Given the description of an element on the screen output the (x, y) to click on. 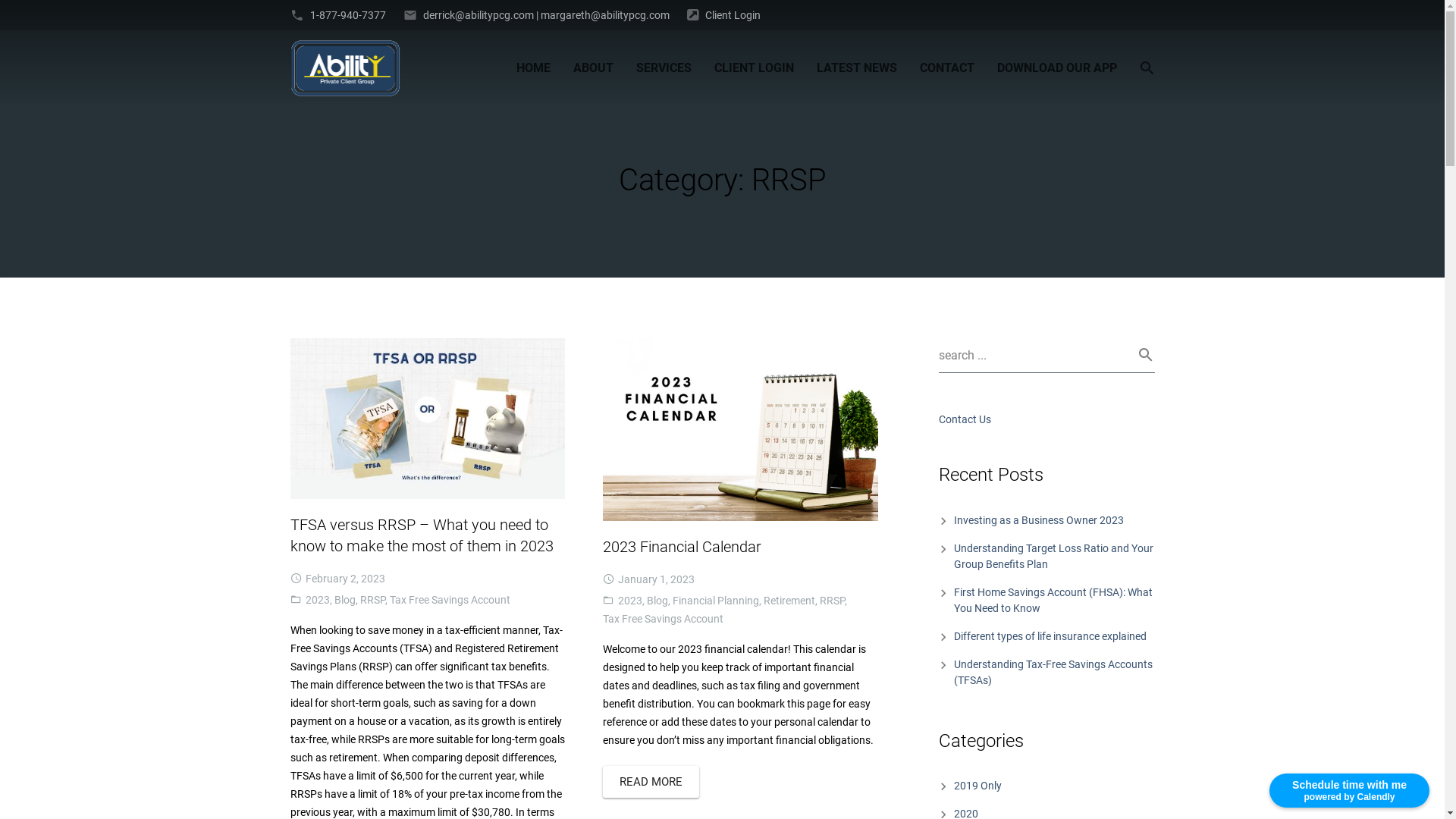
CONTACT Element type: text (946, 68)
Retirement Element type: text (789, 600)
Blog Element type: text (657, 600)
Tax Free Savings Account Element type: text (449, 599)
RRSP Element type: text (371, 599)
Investing as a Business Owner 2023 Element type: text (1038, 520)
CLIENT LOGIN Element type: text (753, 68)
READ MORE Element type: text (650, 781)
Different types of life insurance explained Element type: text (1049, 636)
2023 Element type: text (630, 600)
RRSP Element type: text (831, 600)
Understanding Target Loss Ratio and Your Group Benefits Plan Element type: text (1053, 556)
Client Login Element type: text (732, 15)
DOWNLOAD OUR APP Element type: text (1056, 68)
Contact Us Element type: text (964, 419)
2019 Only Element type: text (977, 785)
Tax Free Savings Account Element type: text (662, 618)
First Home Savings Account (FHSA): What You Need to Know Element type: text (1052, 600)
HOME Element type: text (533, 68)
margareth@abilitypcg.com Element type: text (603, 15)
1-877-940-7377 Element type: text (347, 15)
2023 Financial Calendar Element type: text (681, 546)
SERVICES Element type: text (663, 68)
derrick@abilitypcg.com Element type: text (478, 15)
ABOUT Element type: text (592, 68)
Blog Element type: text (343, 599)
Financial Planning Element type: text (715, 600)
Understanding Tax-Free Savings Accounts (TFSAs) Element type: text (1052, 672)
LATEST NEWS Element type: text (856, 68)
2023 Element type: text (316, 599)
